Given the description of an element on the screen output the (x, y) to click on. 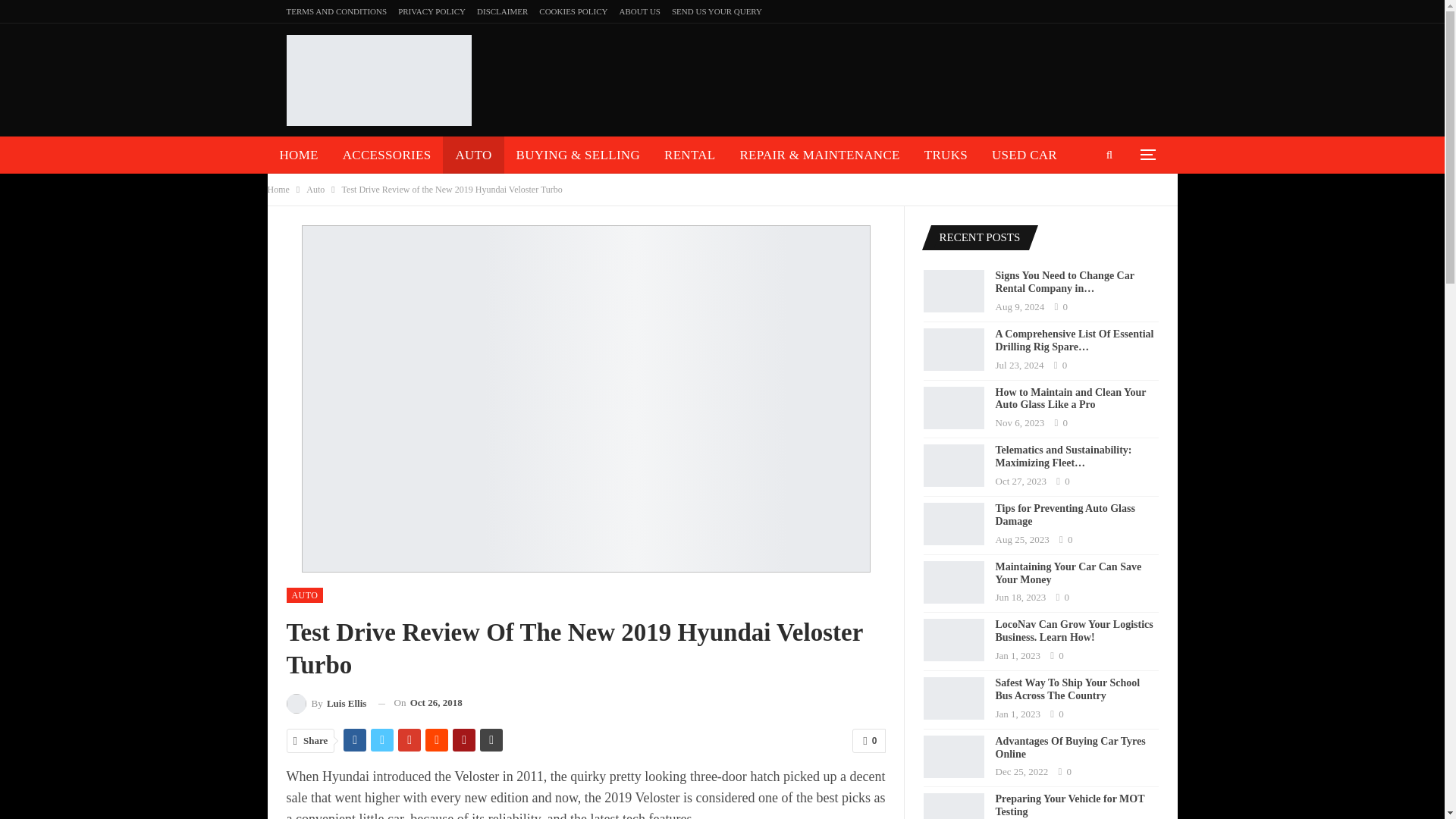
Browse Author Articles (326, 702)
AUTO (304, 595)
COOKIES POLICY (572, 10)
Home (277, 189)
By Luis Ellis (326, 702)
USED CAR (1023, 154)
Auto (314, 189)
DISCLAIMER (502, 10)
RENTAL (689, 154)
HOME (298, 154)
